Given the description of an element on the screen output the (x, y) to click on. 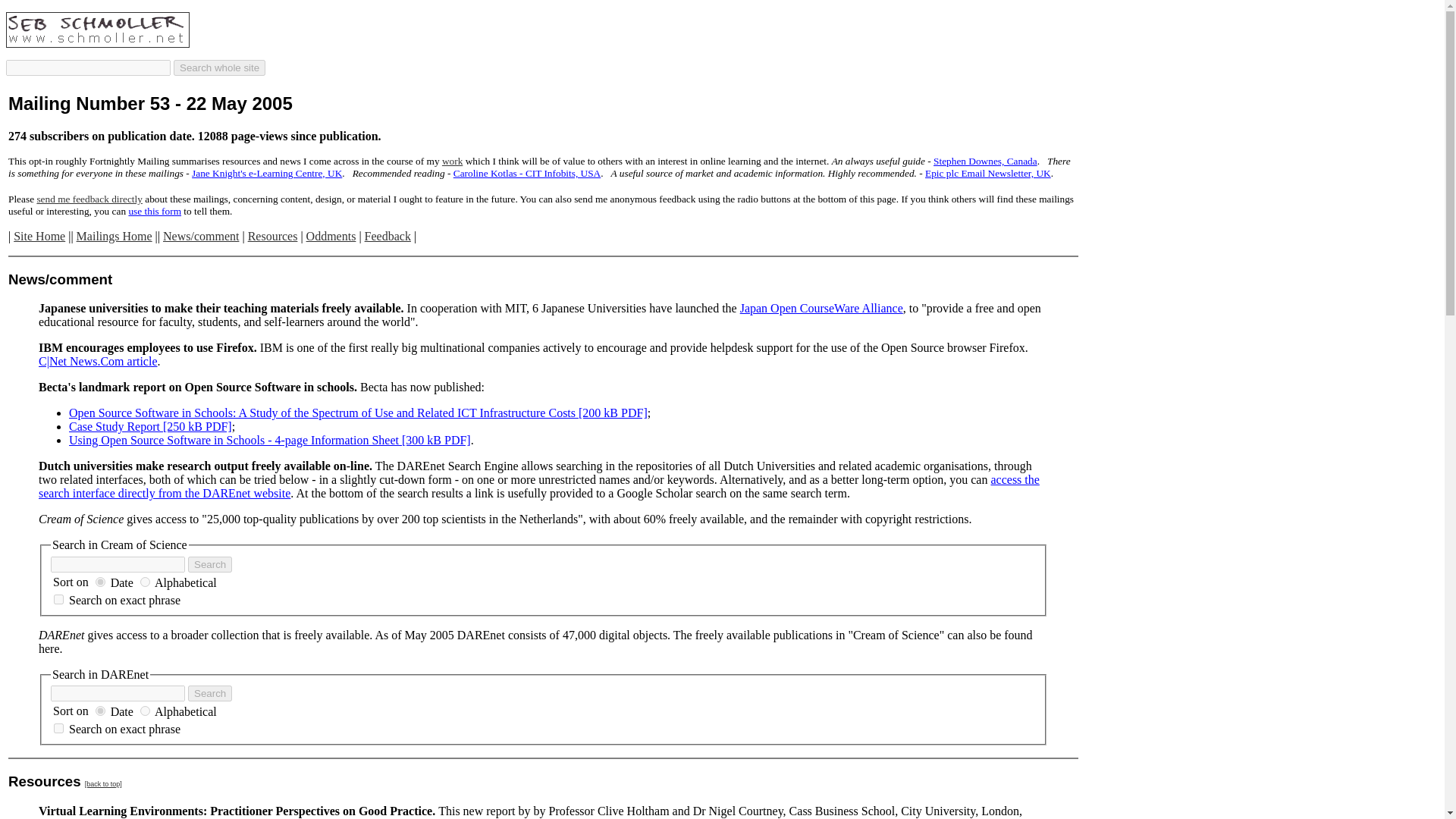
Search (209, 564)
Epic plc Email Newsletter, UK (987, 173)
Japan Open CourseWare Alliance (820, 308)
-generic4 (100, 582)
Oddments (330, 236)
Search for exact phrase including spaces (542, 599)
title (144, 710)
use this form (154, 211)
Resources (272, 236)
send me feedback directly (89, 198)
phrase (58, 599)
title (144, 582)
Jane Knight's e-Learning Centre, UK (267, 173)
Search (209, 564)
Search for exact phrase including spaces (542, 728)
